Given the description of an element on the screen output the (x, y) to click on. 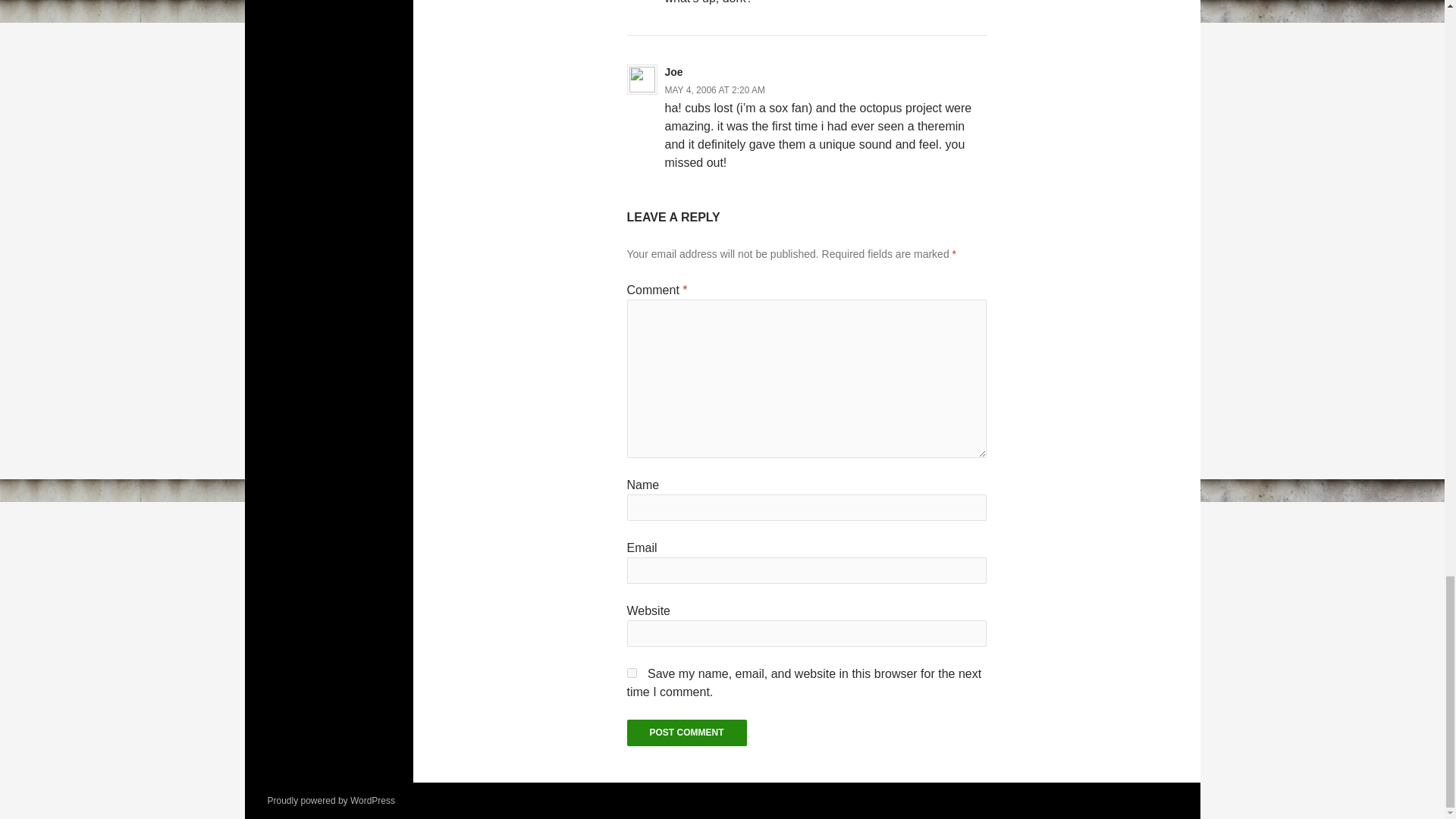
MAY 4, 2006 AT 2:20 AM (714, 90)
Proudly powered by WordPress (330, 800)
Post Comment (685, 732)
yes (631, 673)
Post Comment (685, 732)
